Given the description of an element on the screen output the (x, y) to click on. 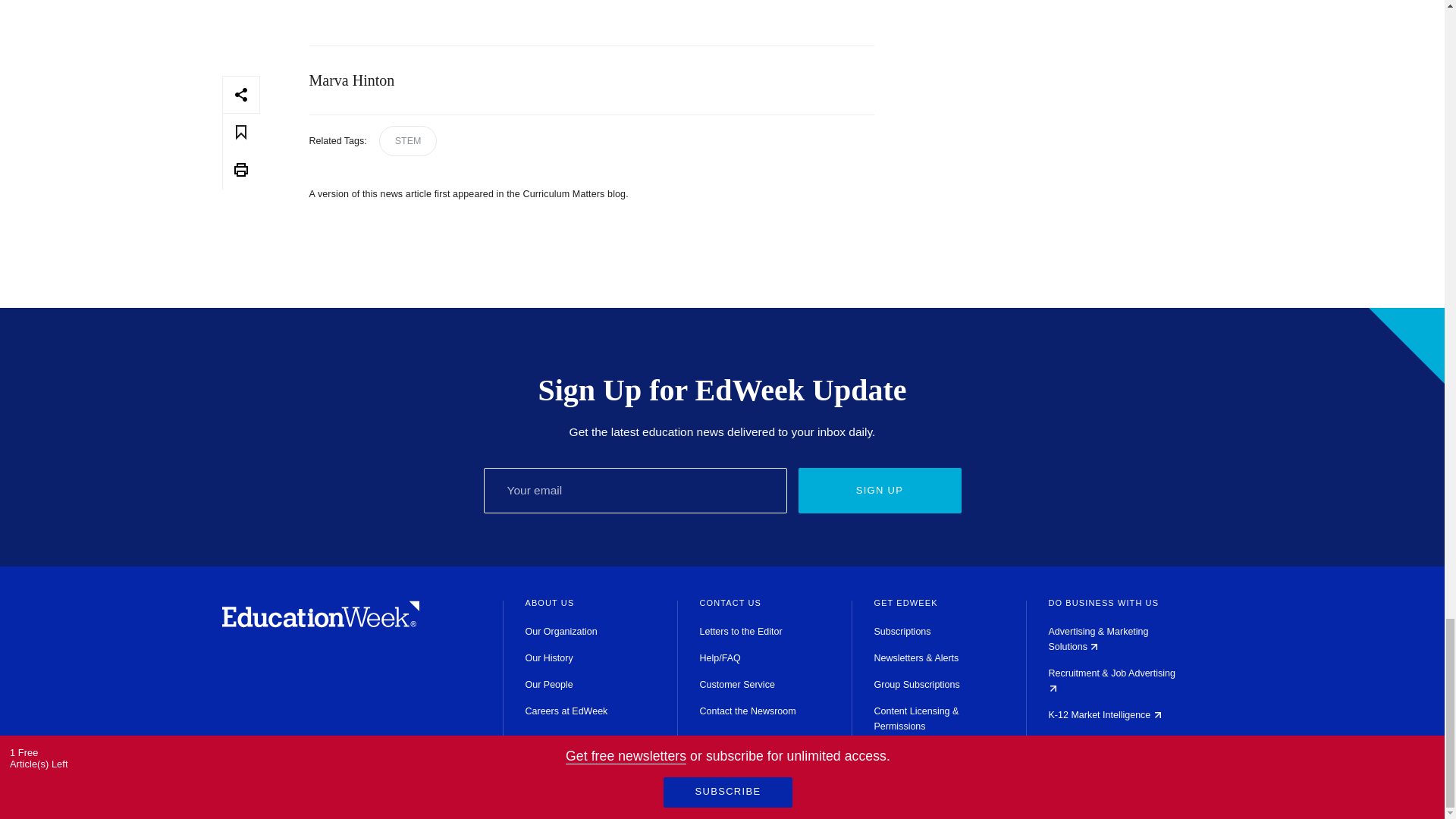
Homepage (320, 623)
